Given the description of an element on the screen output the (x, y) to click on. 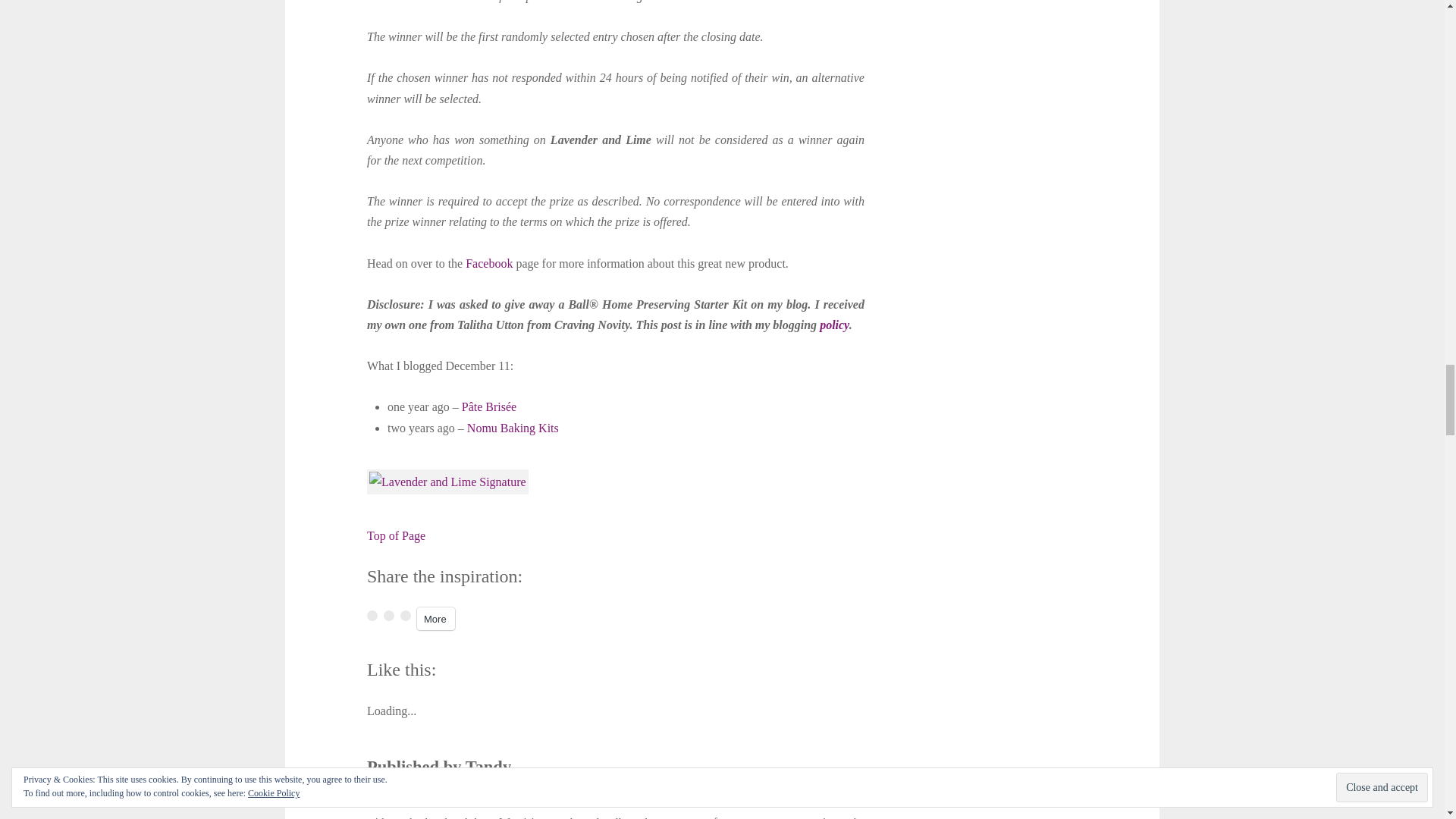
Top of Page (395, 535)
Click to share on Twitter (405, 615)
More (435, 618)
Facebook (488, 263)
policy (833, 324)
Click to share on Facebook (371, 615)
Click to share on Pinterest (389, 615)
Nomu Baking Kits (513, 427)
